Given the description of an element on the screen output the (x, y) to click on. 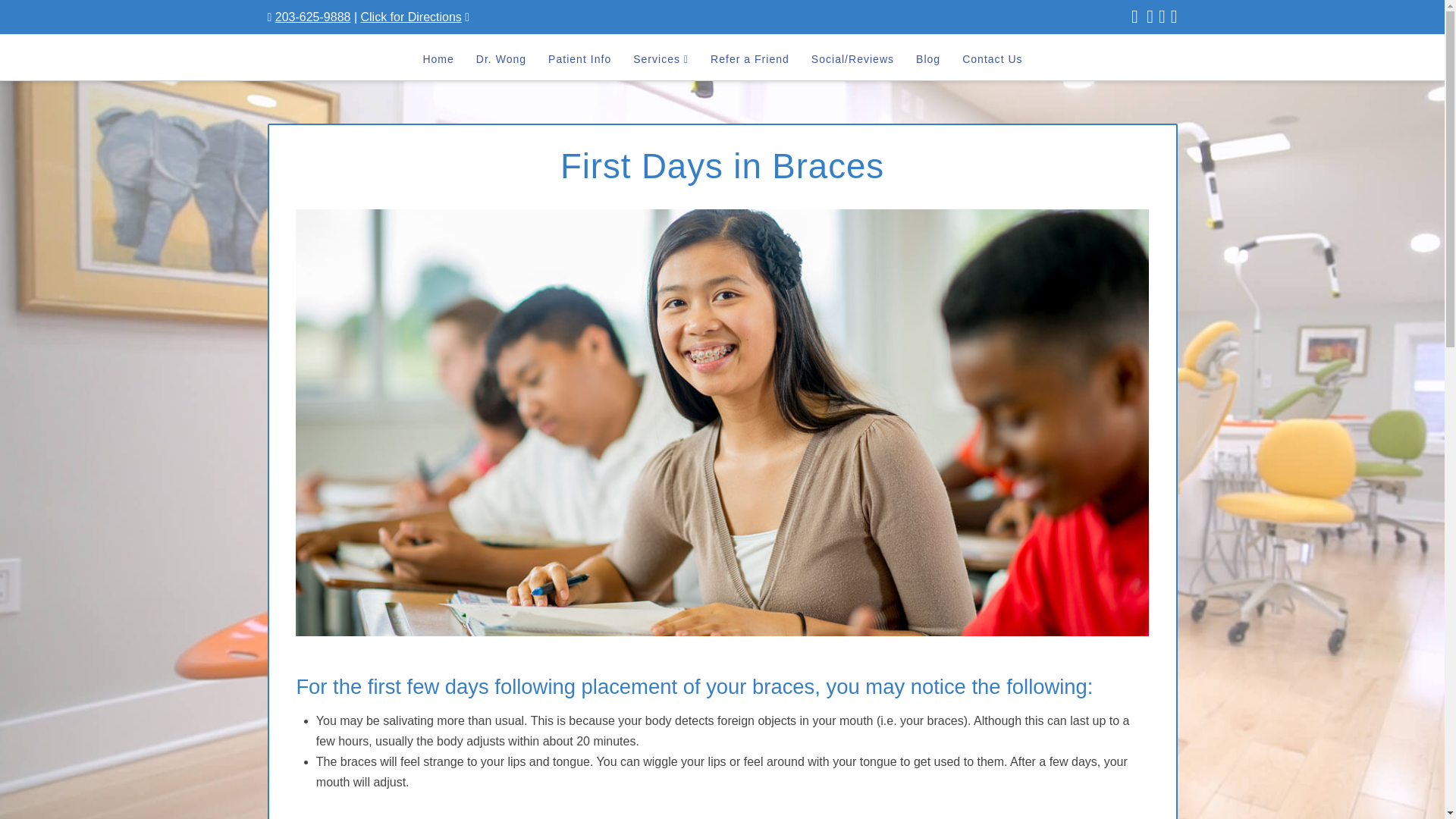
Contact Us (991, 57)
Services (659, 57)
Refer a Friend (748, 57)
203-625-9888 (312, 16)
Directions (410, 16)
Patient Info (579, 57)
Home (437, 57)
Blog (927, 57)
Phone Number (312, 16)
Dr. Wong (500, 57)
Click for Directions (410, 16)
